Given the description of an element on the screen output the (x, y) to click on. 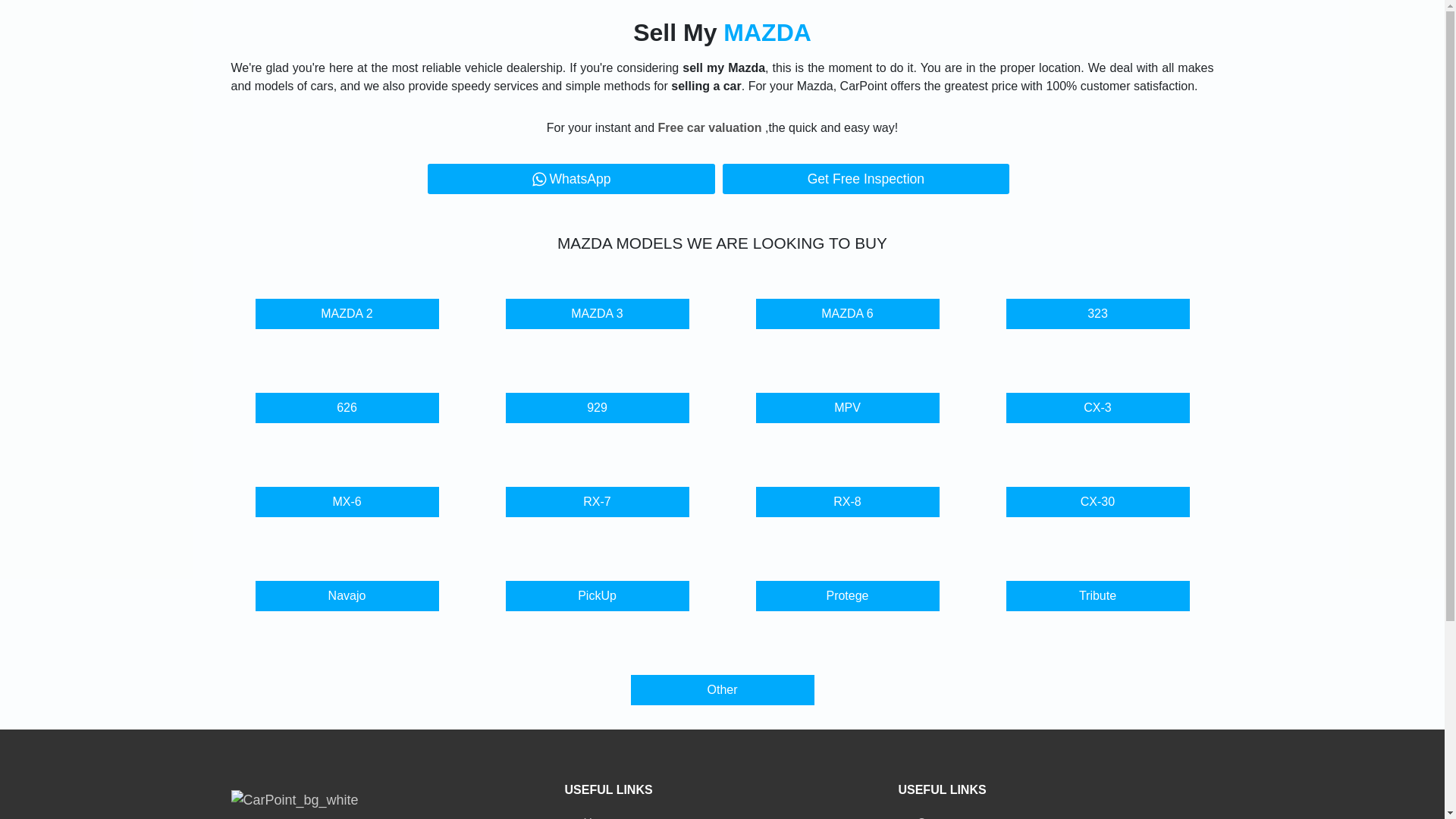
WhatsApp (571, 178)
Home (589, 816)
Get Free Inspection (865, 178)
Contact us (936, 816)
